Given the description of an element on the screen output the (x, y) to click on. 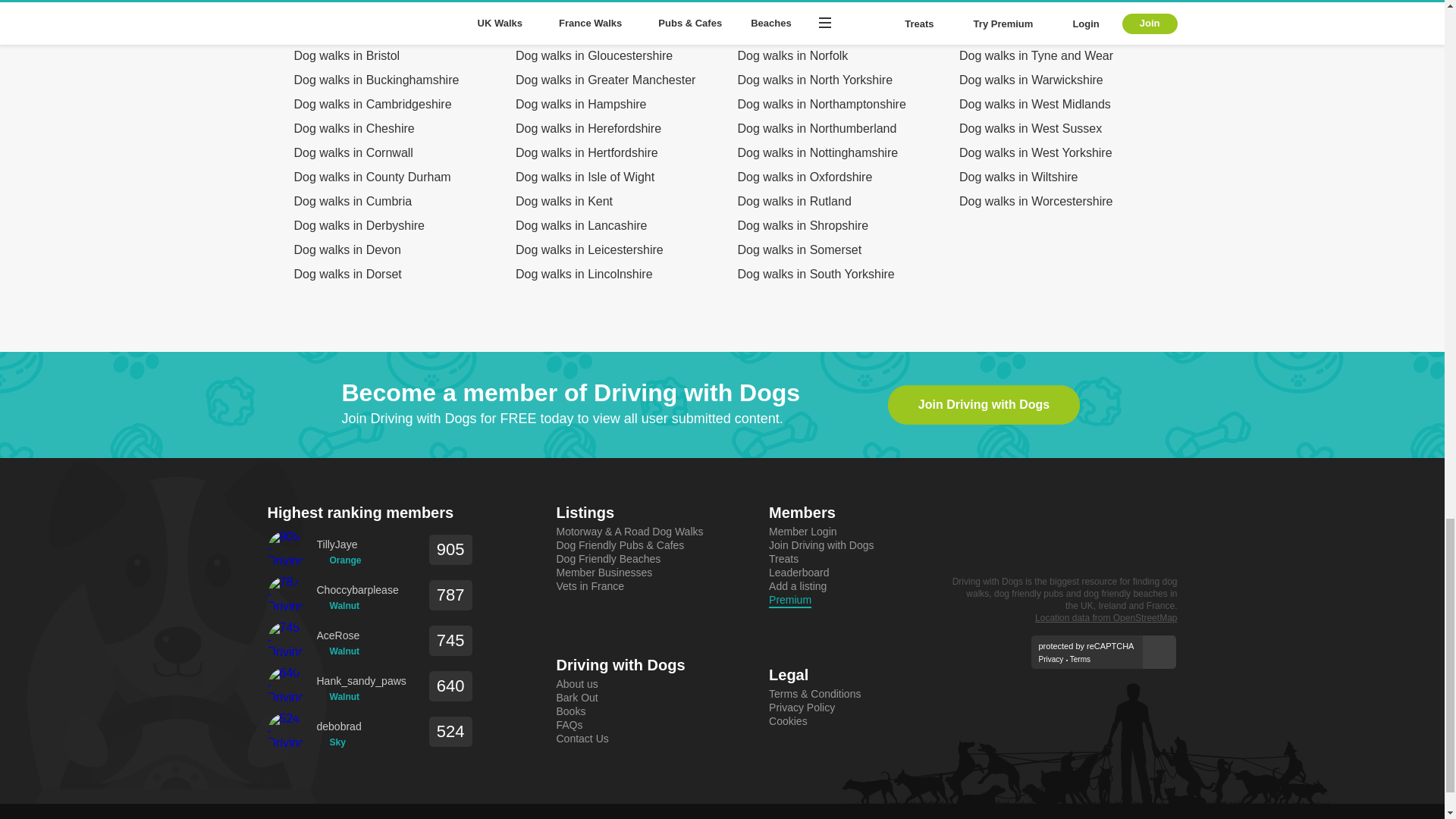
Choccybarplease (357, 590)
debobrad (339, 726)
TillyJaye (339, 544)
AceRose (338, 635)
